Given the description of an element on the screen output the (x, y) to click on. 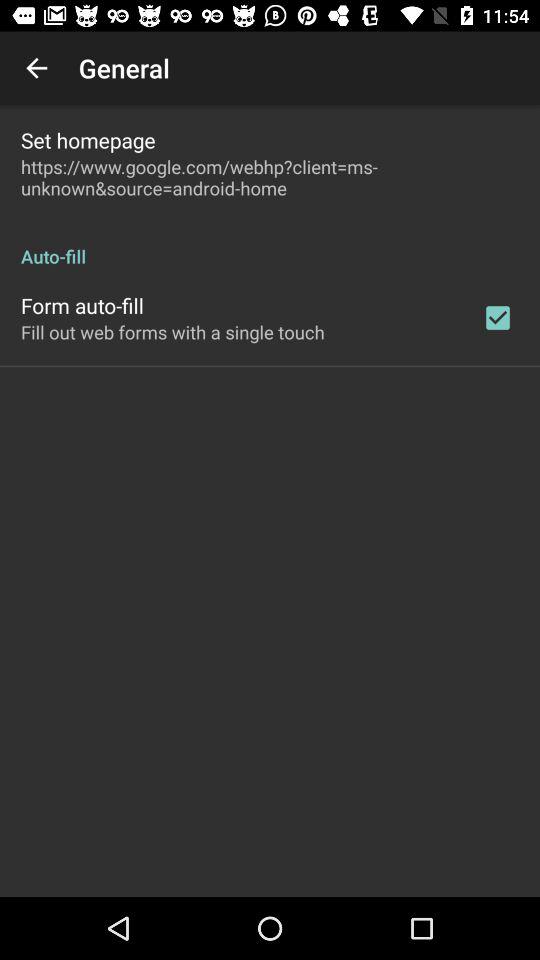
scroll to fill out web app (172, 331)
